Given the description of an element on the screen output the (x, y) to click on. 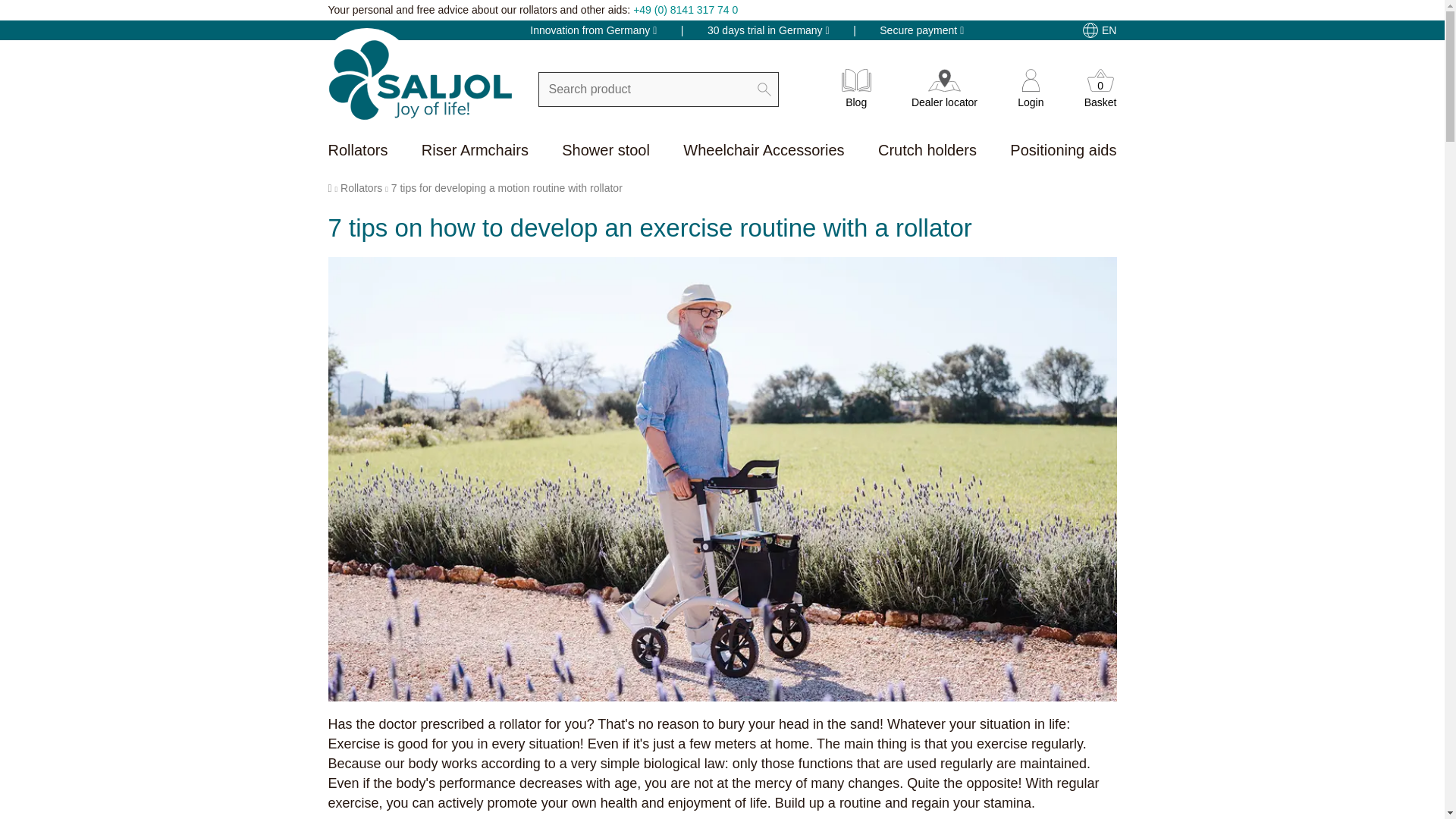
Shower stool (605, 151)
Login (1030, 95)
Crutch holders (926, 151)
Blog (855, 95)
Positioning aids (1063, 151)
Dealer locator (1100, 95)
Riser Armchairs (943, 95)
Rollators (475, 151)
7 tips for developing a motion routine with rollator (357, 151)
Wheelchair Accessories (507, 187)
Rollators (763, 151)
